Given the description of an element on the screen output the (x, y) to click on. 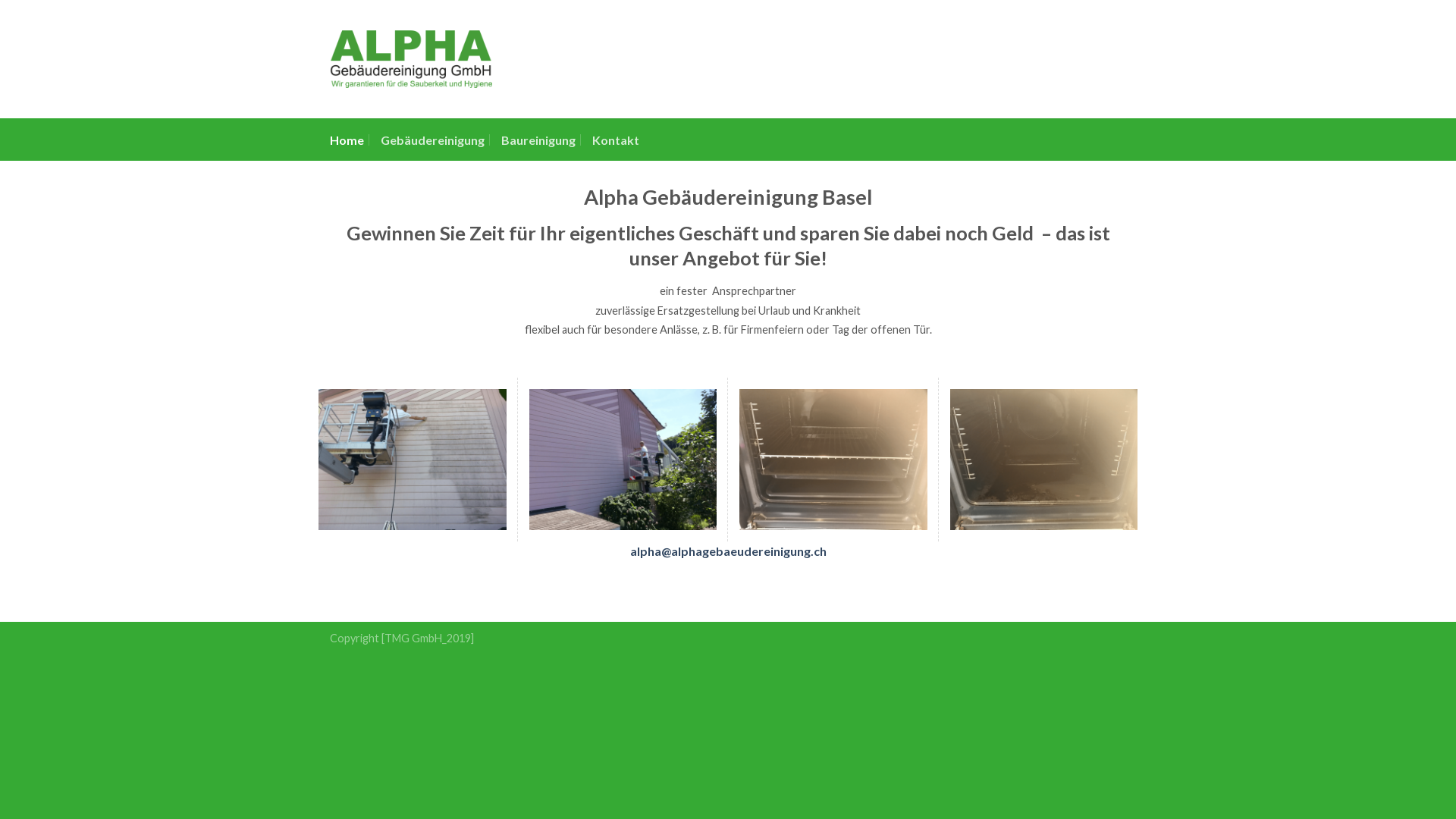
Kontakt Element type: text (615, 139)
Home Element type: text (346, 139)
alpha@alphagebaeudereinigung.ch Element type: text (727, 550)
Baureinigung Element type: text (538, 139)
